Given the description of an element on the screen output the (x, y) to click on. 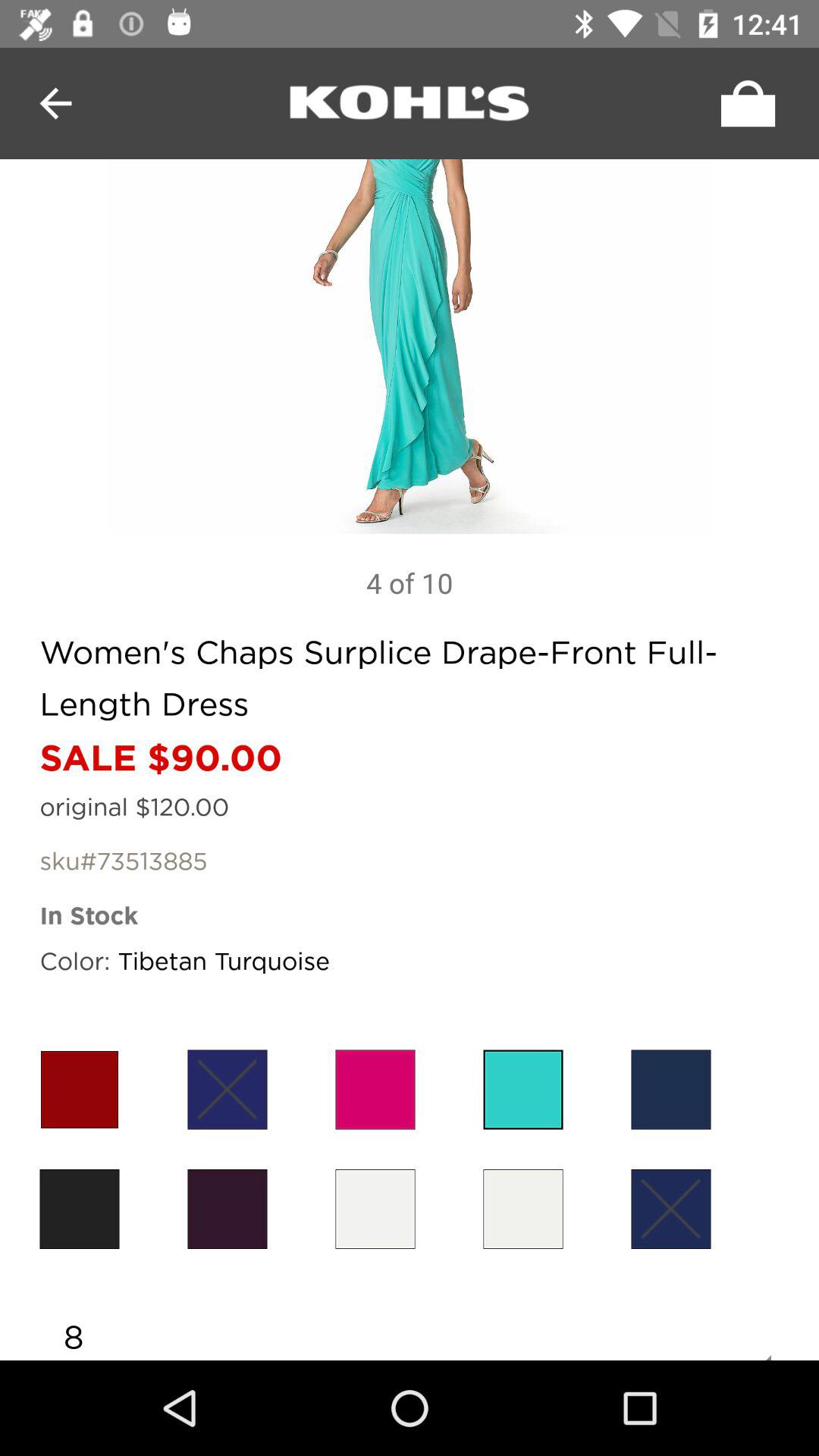
to choose the color of dress (523, 1208)
